Given the description of an element on the screen output the (x, y) to click on. 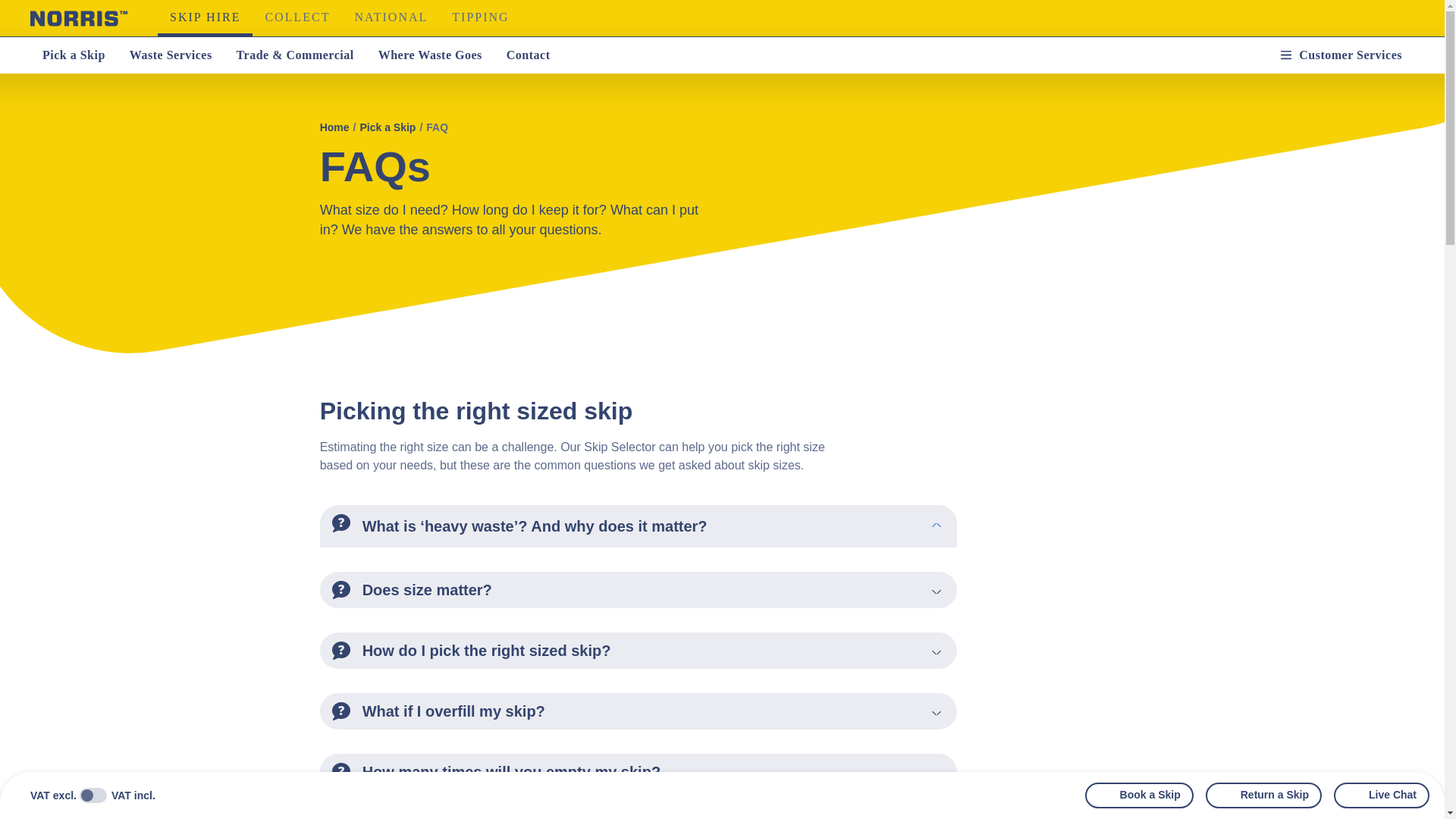
Home (334, 127)
image (340, 710)
image (340, 523)
Cart (1226, 54)
Pick a Skip (386, 127)
image (340, 589)
image (340, 771)
Pick a Skip (73, 54)
image (340, 650)
FAQ (437, 127)
Norris (79, 17)
SKIP HIRE (204, 18)
